Given the description of an element on the screen output the (x, y) to click on. 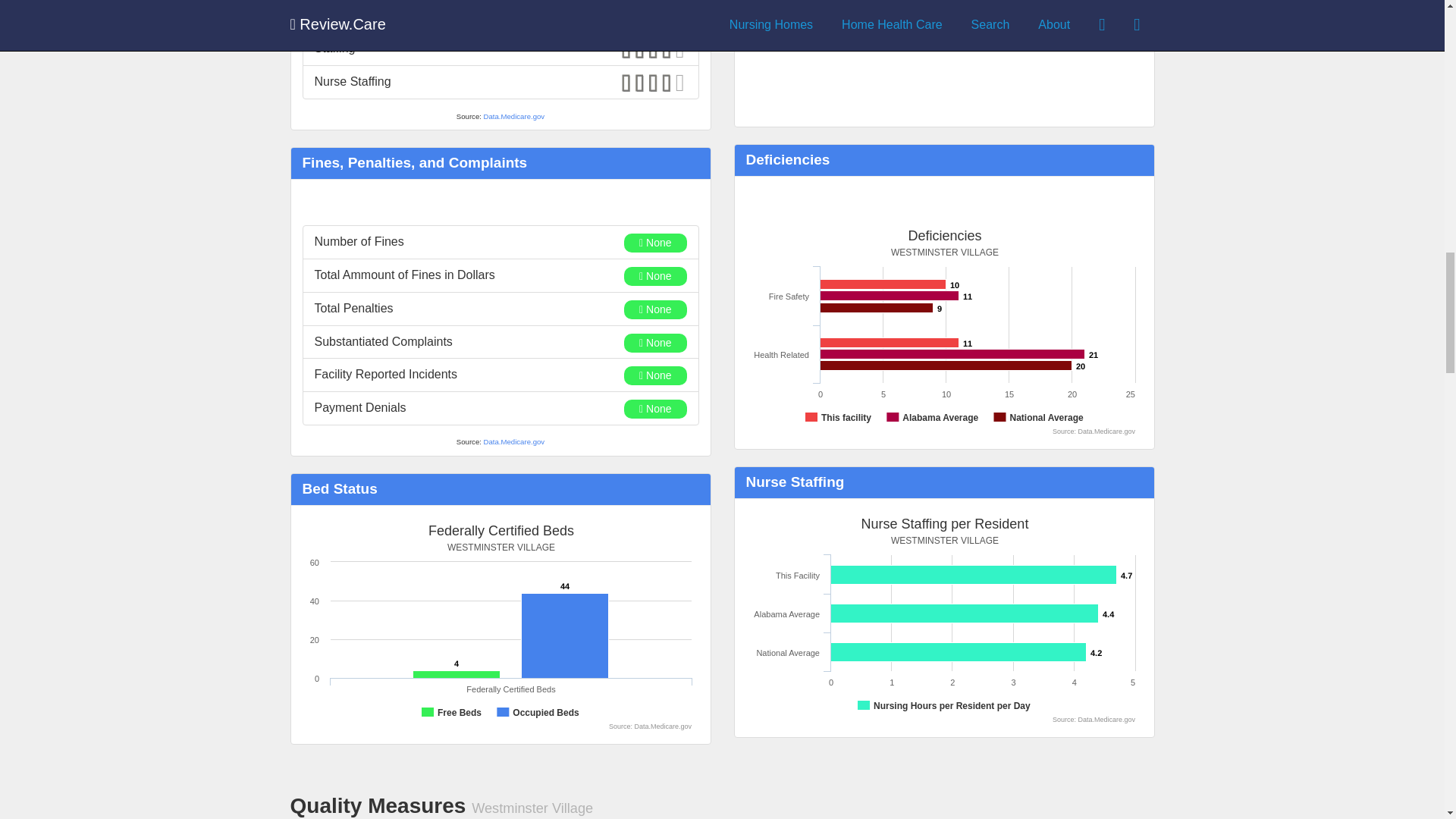
Data.Medicare.gov (513, 116)
Data.Medicare.gov (513, 441)
